Given the description of an element on the screen output the (x, y) to click on. 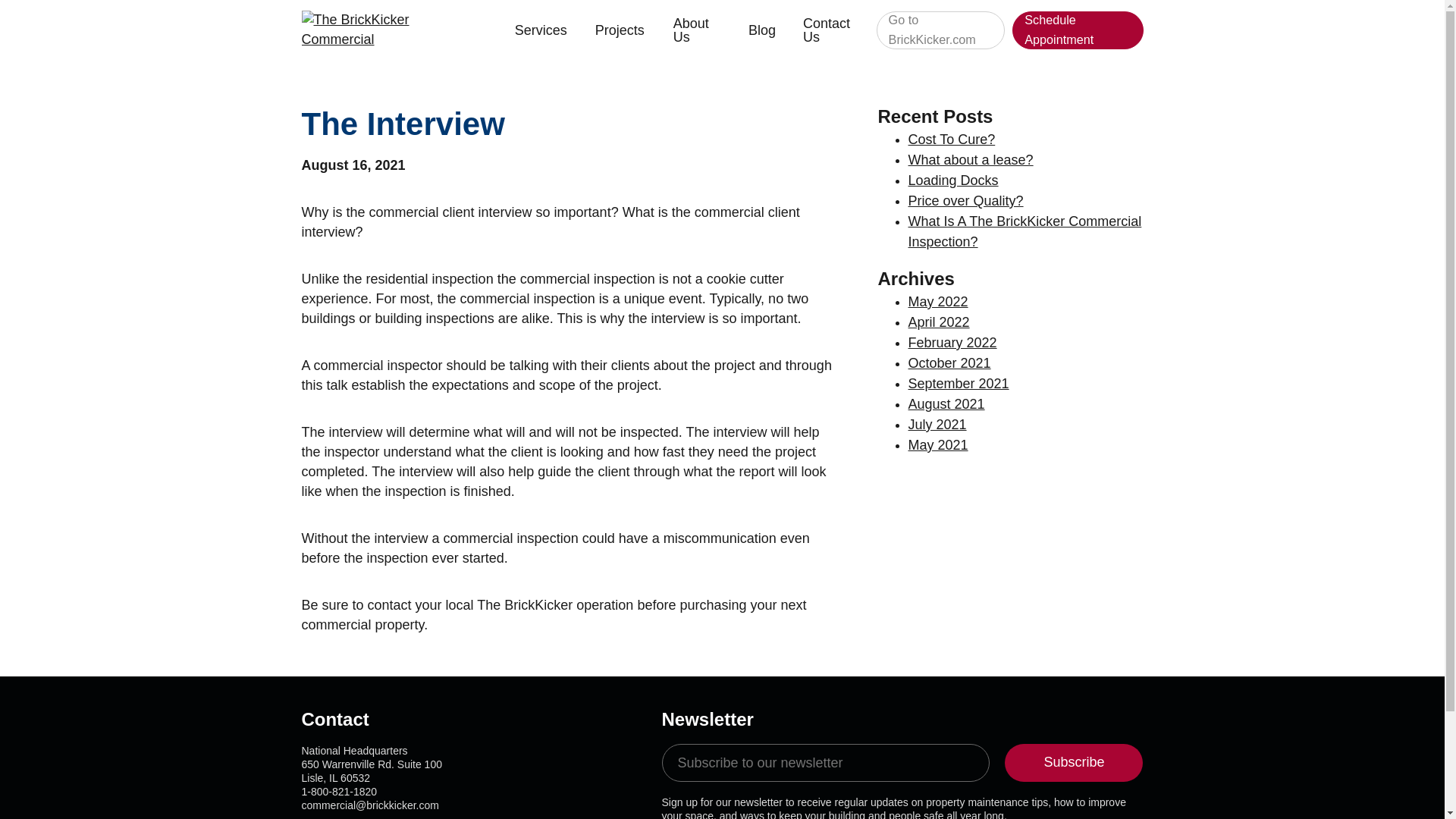
April 2022 (938, 322)
What about a lease? (970, 159)
Price over Quality? (965, 200)
Schedule Appointment (1077, 30)
Services (542, 29)
What Is A The BrickKicker Commercial Inspection? (1024, 231)
Go to BrickKicker.com (940, 30)
Subscribe (1073, 762)
Schedule Appointment (1077, 30)
Blog (763, 29)
